Given the description of an element on the screen output the (x, y) to click on. 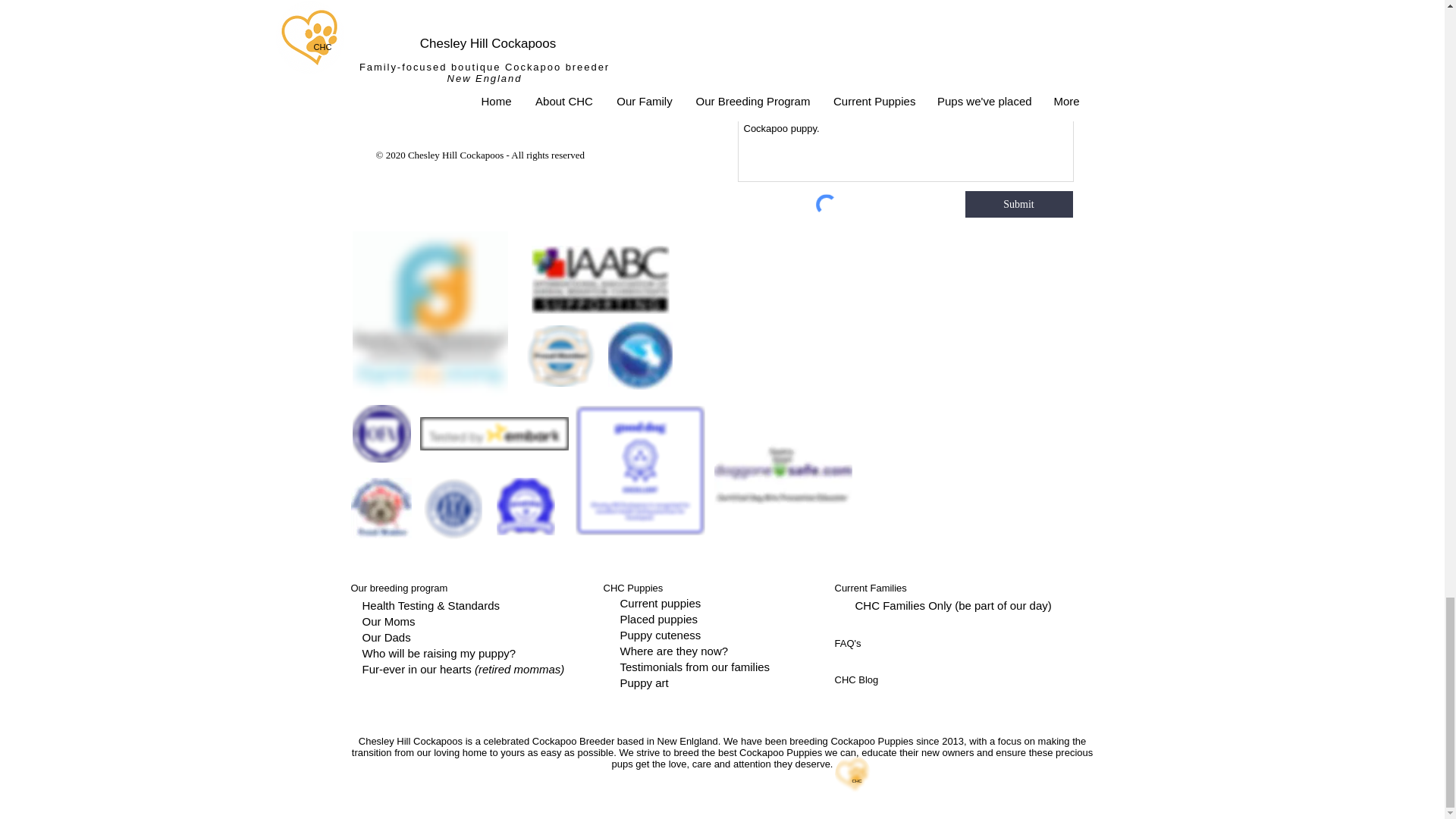
PPG Member Badge 2022.png (559, 355)
Image 8-12-22 at 2.41 PM.jpg (782, 470)
